Given the description of an element on the screen output the (x, y) to click on. 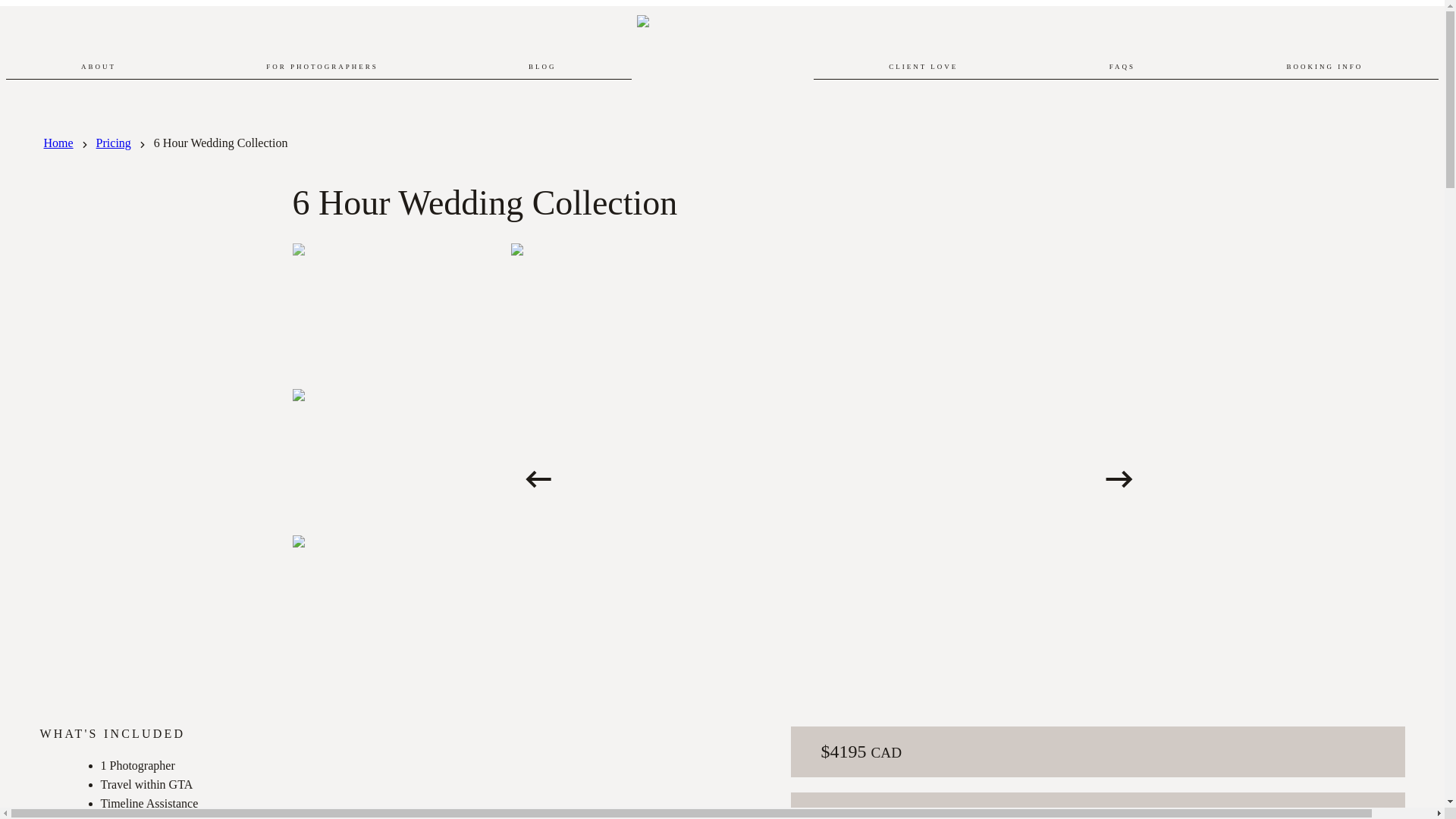
Home (58, 142)
Pricing (113, 142)
